Given the description of an element on the screen output the (x, y) to click on. 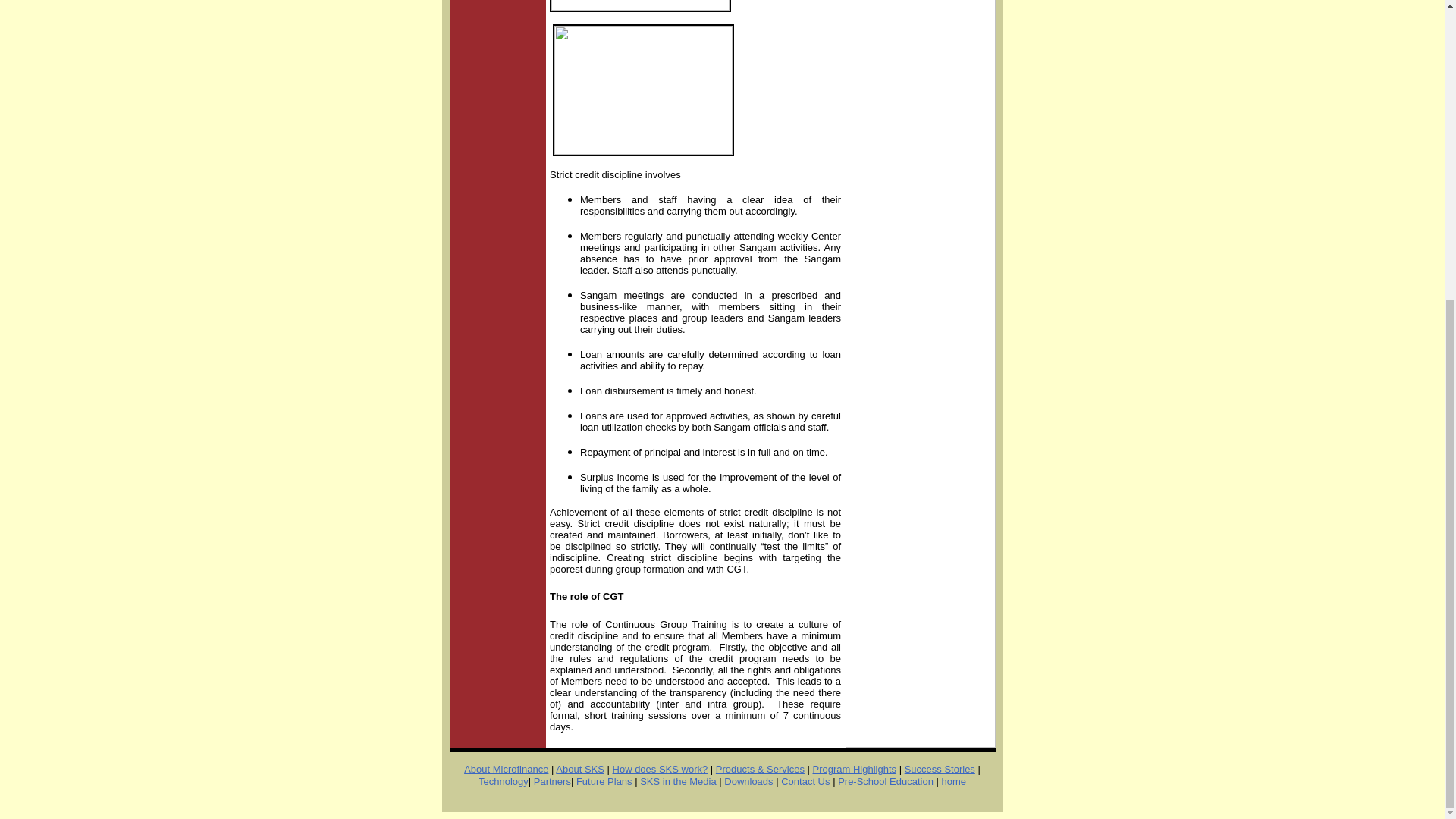
home (954, 781)
About SKS (580, 768)
Pre-School Education (885, 781)
Success Stories (939, 768)
About Microfinance (506, 768)
How does SKS work? (659, 768)
Partners (552, 781)
Future Plans (603, 781)
SKS in the Media (678, 781)
Downloads (748, 781)
Program Highlights (854, 768)
Technology (503, 781)
Contact Us (804, 781)
